Given the description of an element on the screen output the (x, y) to click on. 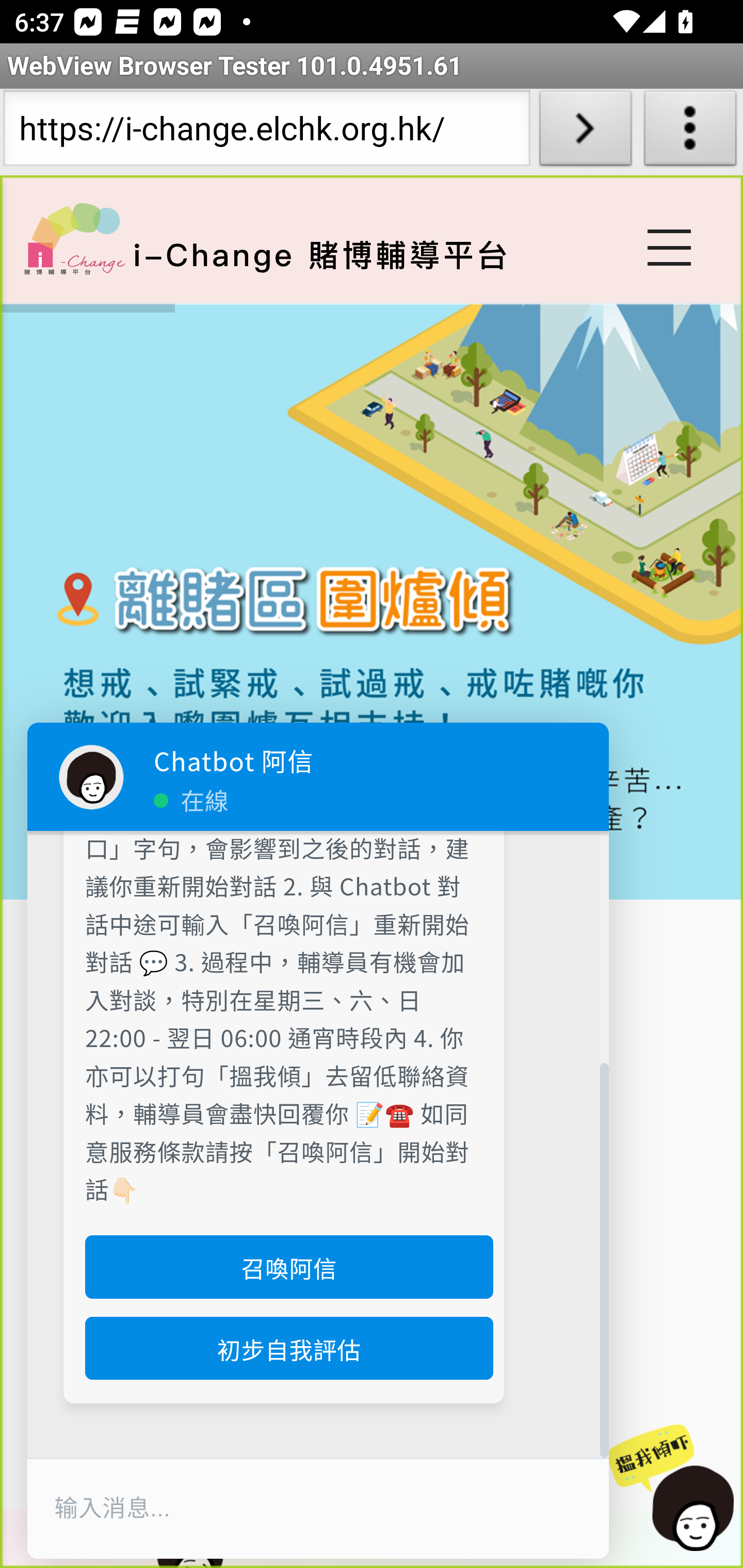
https://i-change.elchk.org.hk/ (266, 132)
Load URL (585, 132)
About WebView (690, 132)
Home (74, 238)
Chat Now (677, 1488)
